Given the description of an element on the screen output the (x, y) to click on. 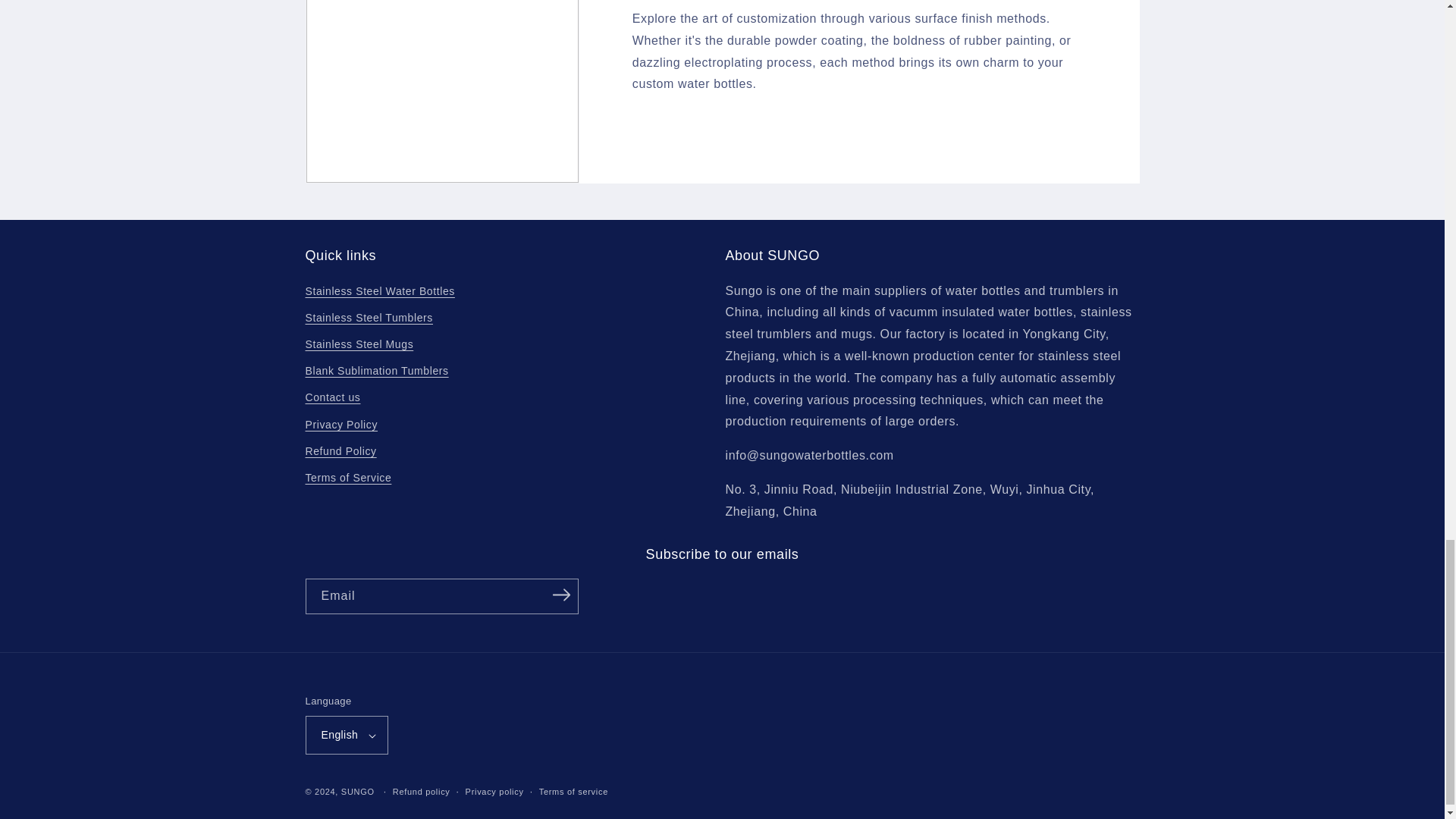
Contact us (331, 397)
SUNGO (357, 791)
Stainless Steel Tumblers (368, 317)
Privacy Policy (340, 424)
Privacy policy (494, 791)
Refund Policy (339, 451)
English (346, 734)
Stainless Steel Water Bottles (379, 292)
Terms of service (573, 791)
Stainless Steel Mugs (358, 344)
Terms of Service (347, 478)
Blank Sublimation Tumblers (376, 370)
Refund policy (421, 791)
